Given the description of an element on the screen output the (x, y) to click on. 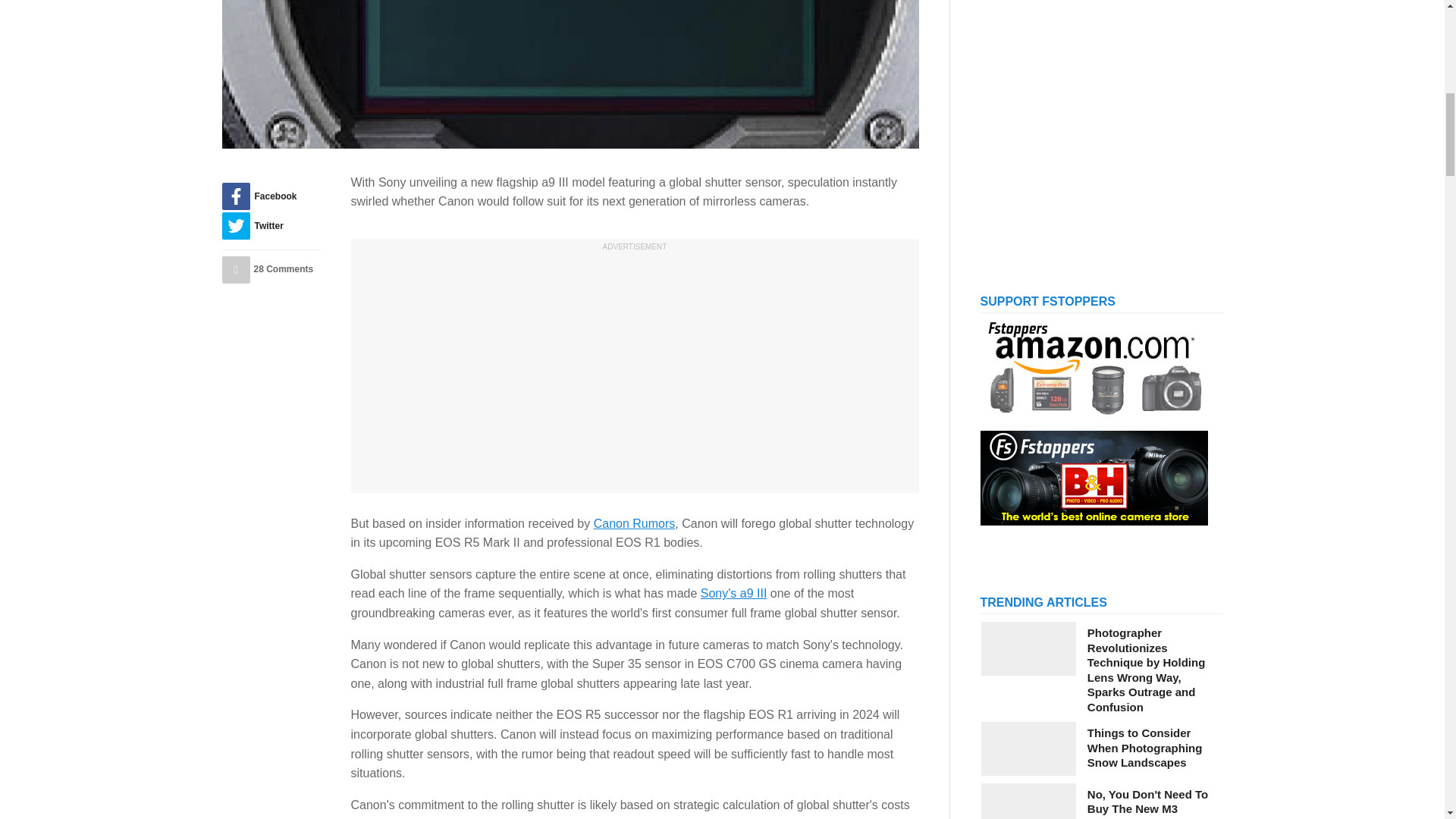
Share on Twitter (270, 225)
Share on Facebook (270, 195)
28 Comments (270, 269)
Sony's a9 III (733, 593)
Canon Rumors (634, 522)
